Given the description of an element on the screen output the (x, y) to click on. 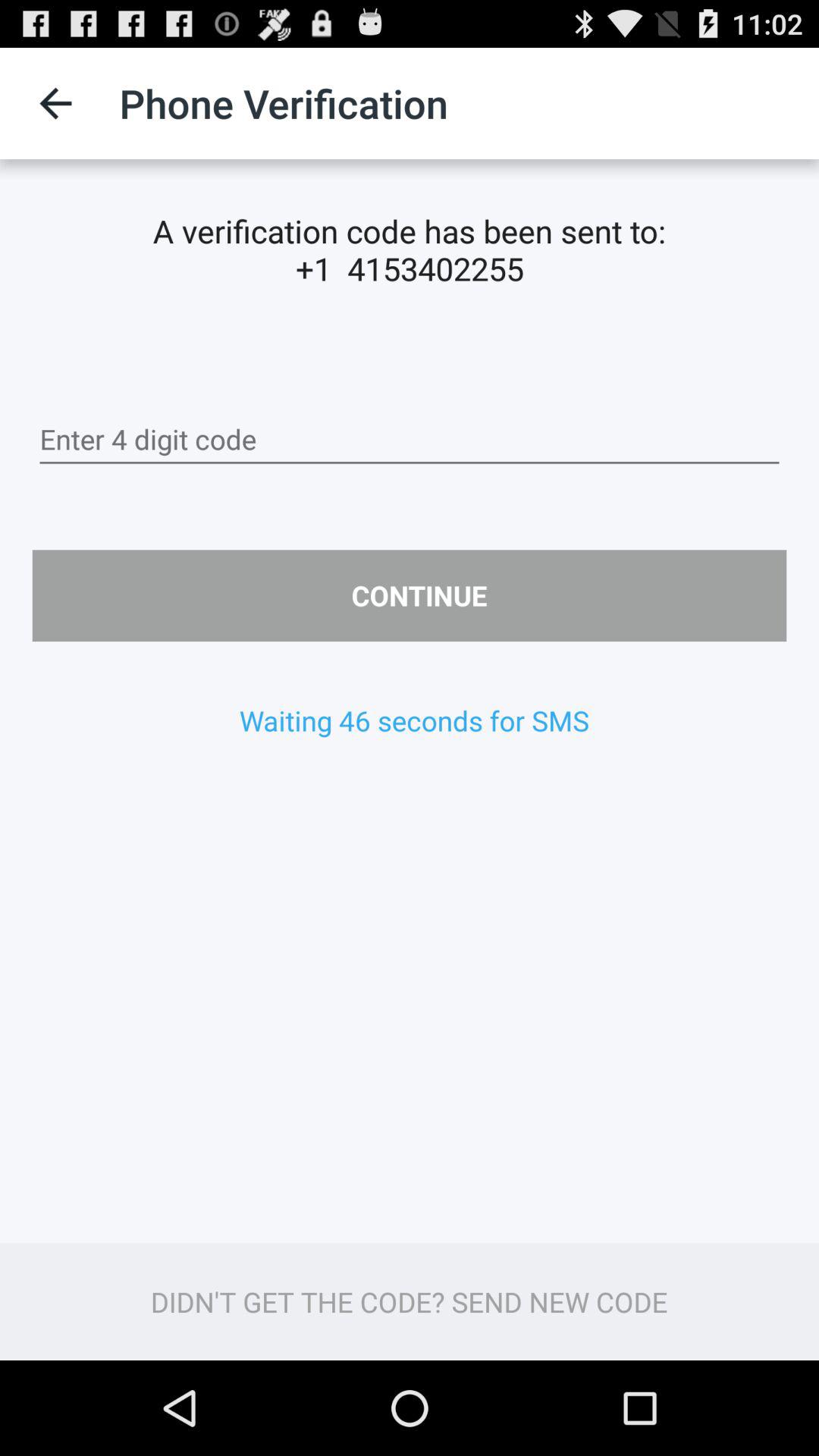
select the icon at the top left corner (55, 103)
